Given the description of an element on the screen output the (x, y) to click on. 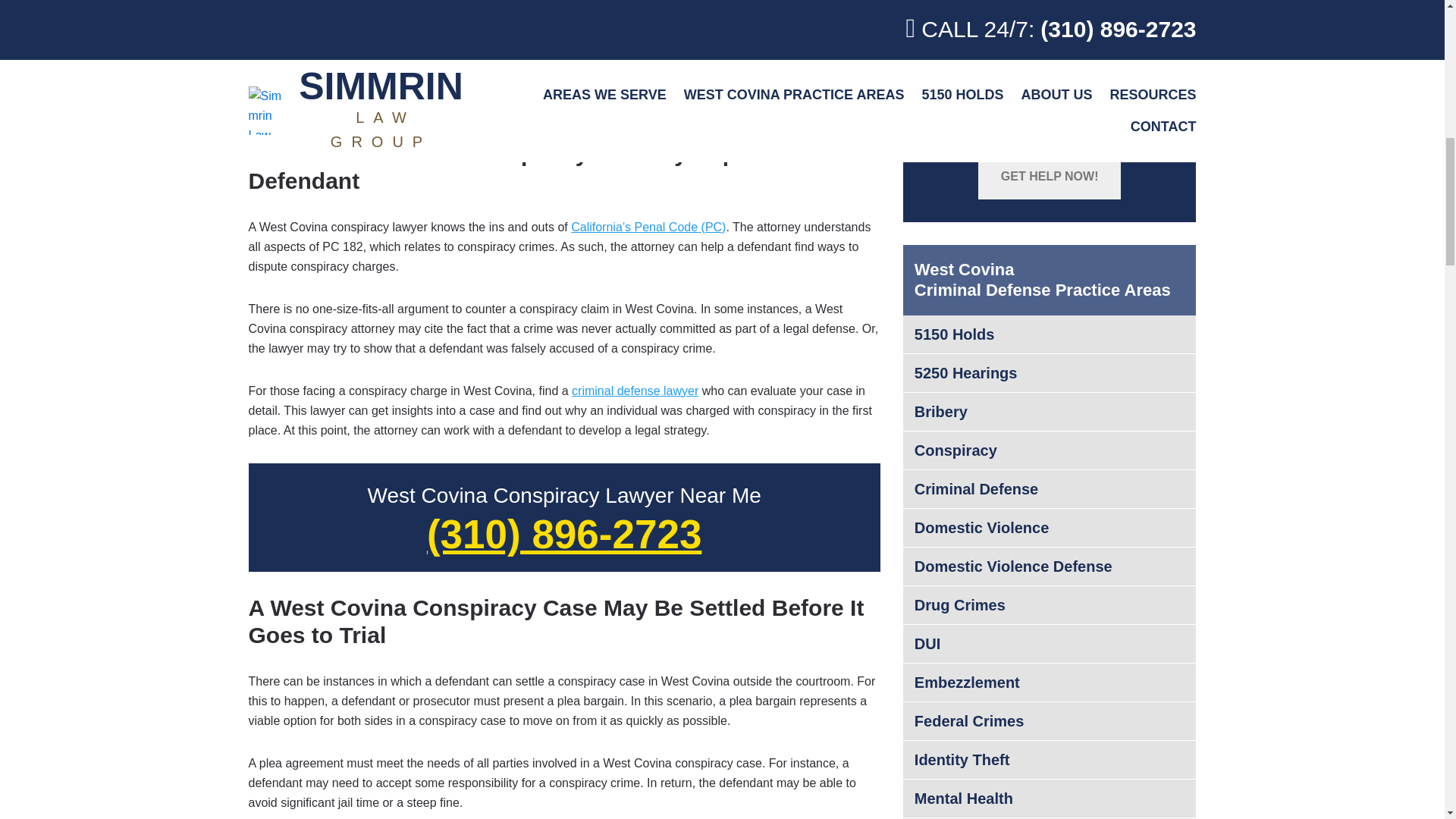
Get Help Now! (1049, 176)
